Given the description of an element on the screen output the (x, y) to click on. 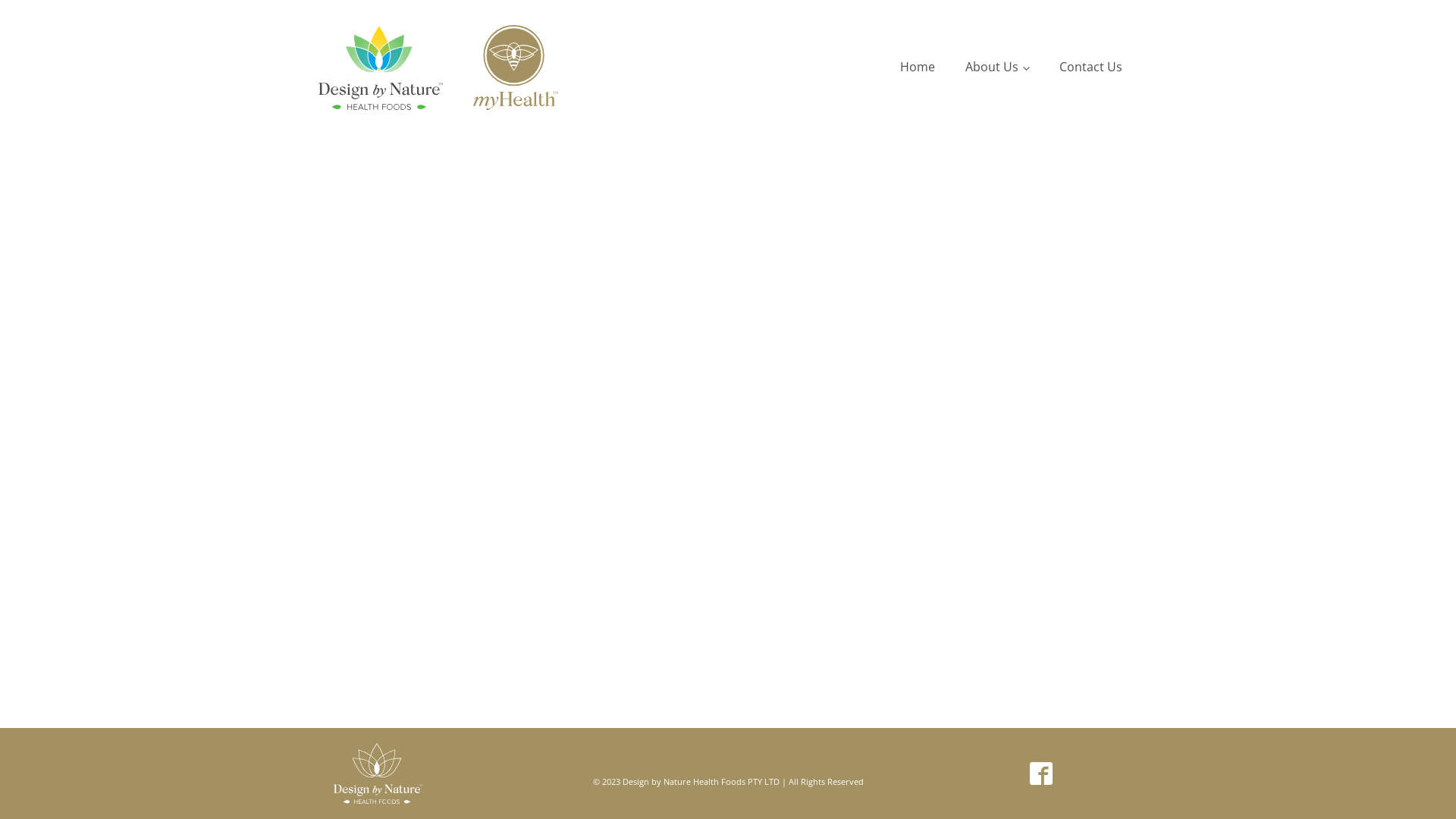
Contact Us Element type: text (1090, 67)
Home Element type: text (917, 67)
About Us Element type: text (997, 67)
